Given the description of an element on the screen output the (x, y) to click on. 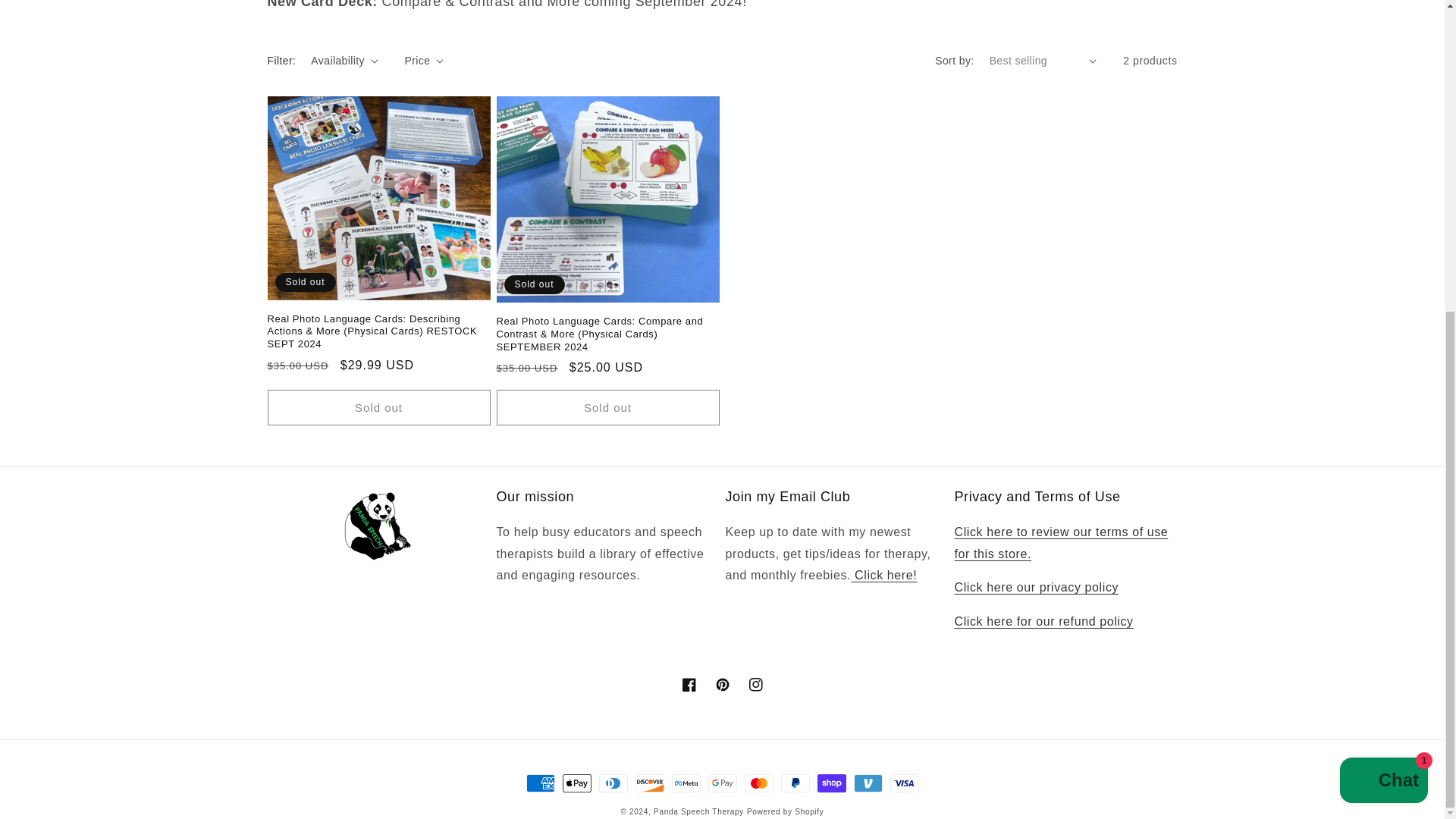
Privacy Policy (1035, 586)
Refund Policy (1042, 621)
Terms of Service (1060, 542)
Shopify online store chat (1383, 286)
